Given the description of an element on the screen output the (x, y) to click on. 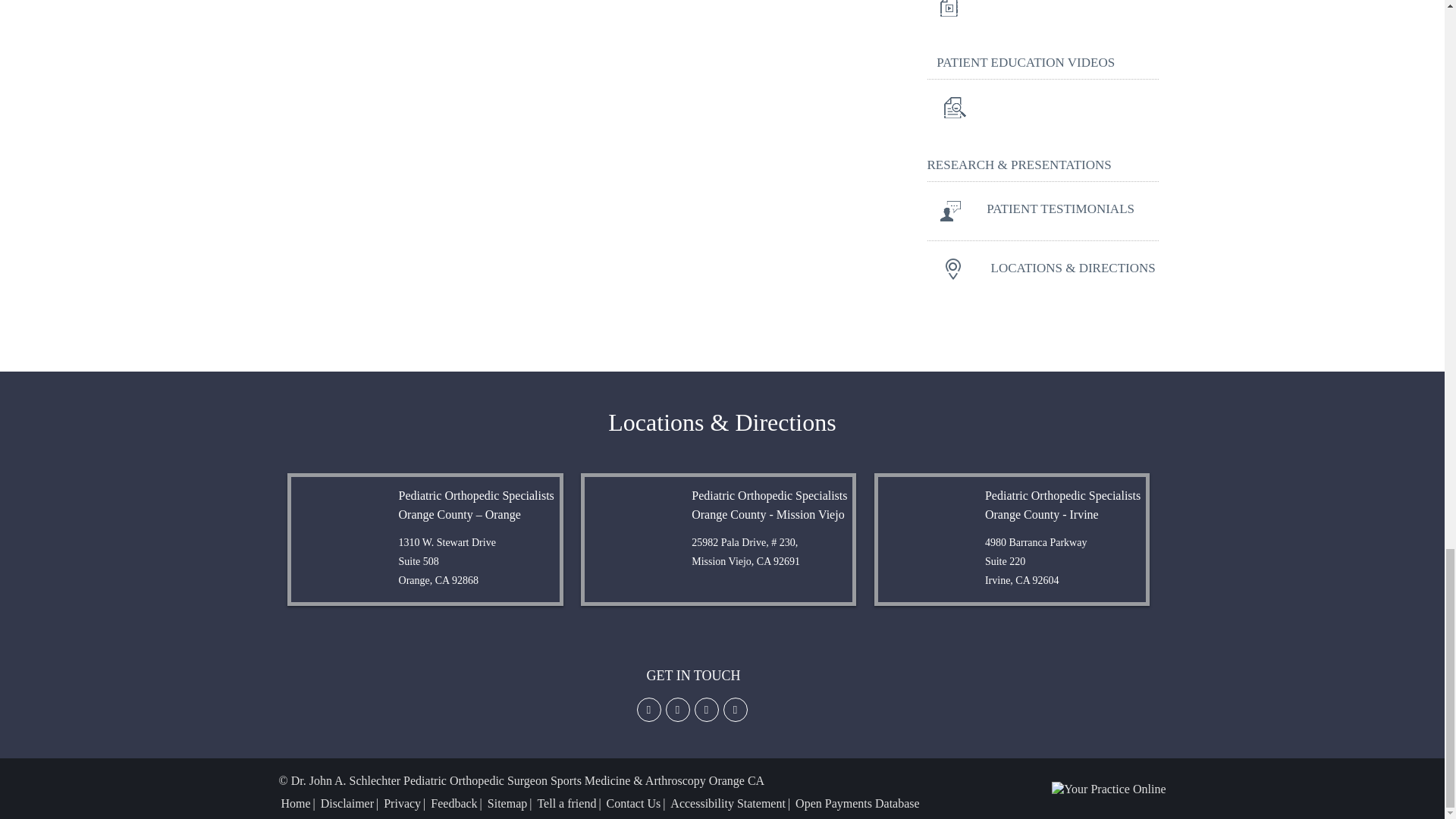
Follow Dr. Schlechter on Twitter (677, 708)
Follow Dr. Schlechter on LinkedIn (706, 708)
Follow Dr. Schlechter on YouTube (735, 708)
Follow Dr. Schlechter on Facebook (649, 708)
